Given the description of an element on the screen output the (x, y) to click on. 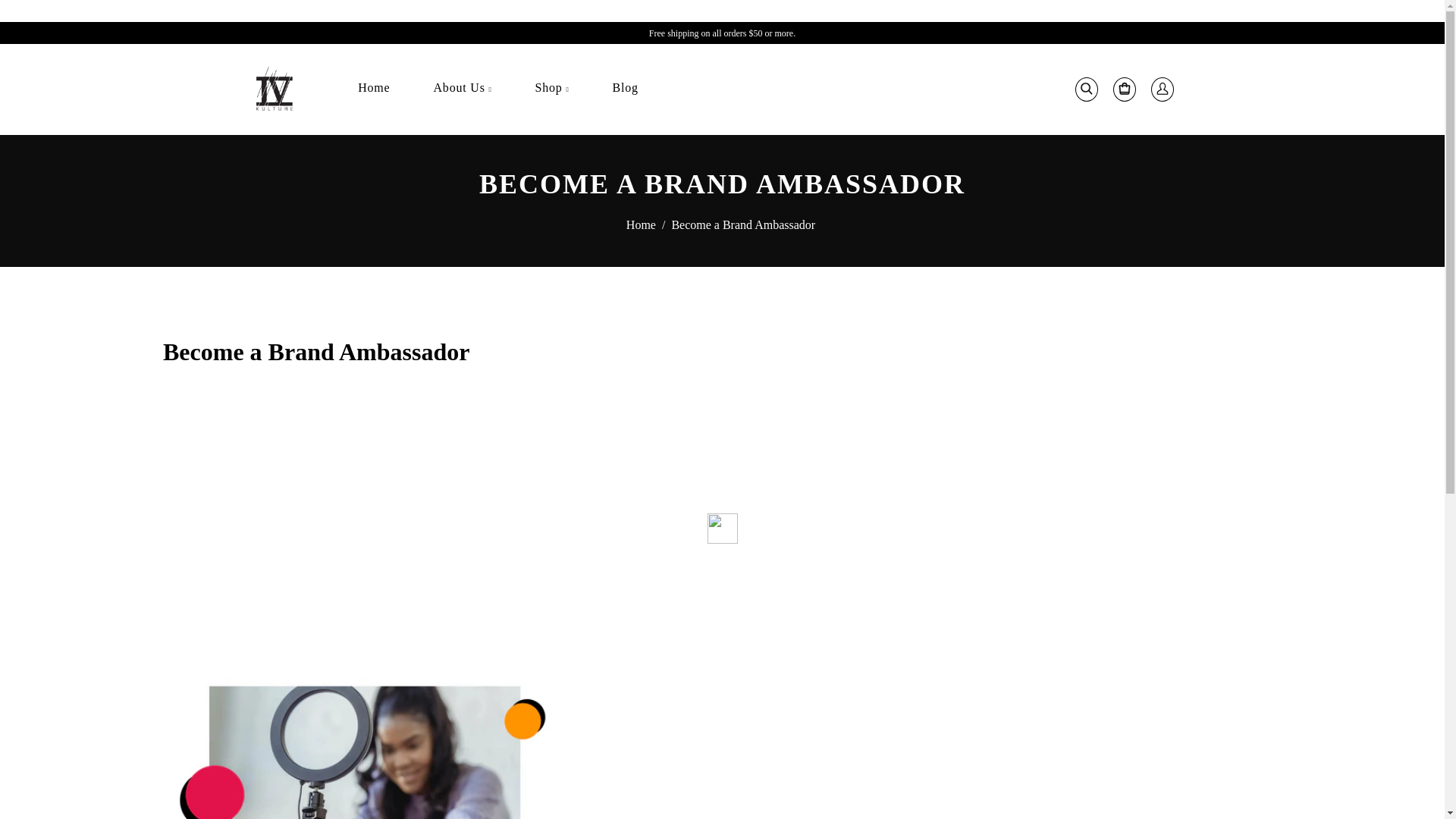
Home (373, 88)
Log in (1162, 88)
Shop (552, 88)
Home (642, 224)
Shopping bag , ui, ecommerce, marketplace, (1124, 89)
About Us (462, 88)
Back to the frontpage (642, 224)
Blog (625, 88)
Shopping bag , ui, ecommerce, marketplace, (1124, 88)
